Given the description of an element on the screen output the (x, y) to click on. 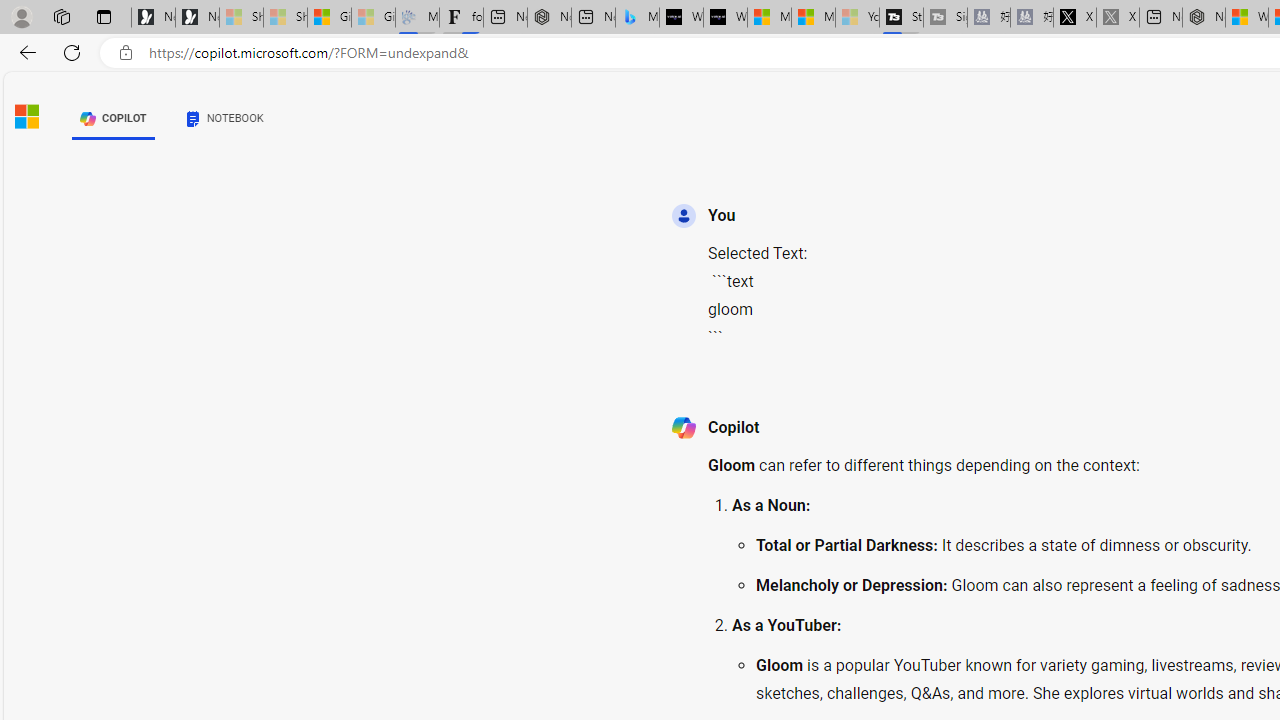
Nordace - My Account (1203, 17)
Skip to content (64, 111)
X - Sleeping (1118, 17)
COPILOT (112, 118)
X (1074, 17)
NOTEBOOK (224, 118)
